Given the description of an element on the screen output the (x, y) to click on. 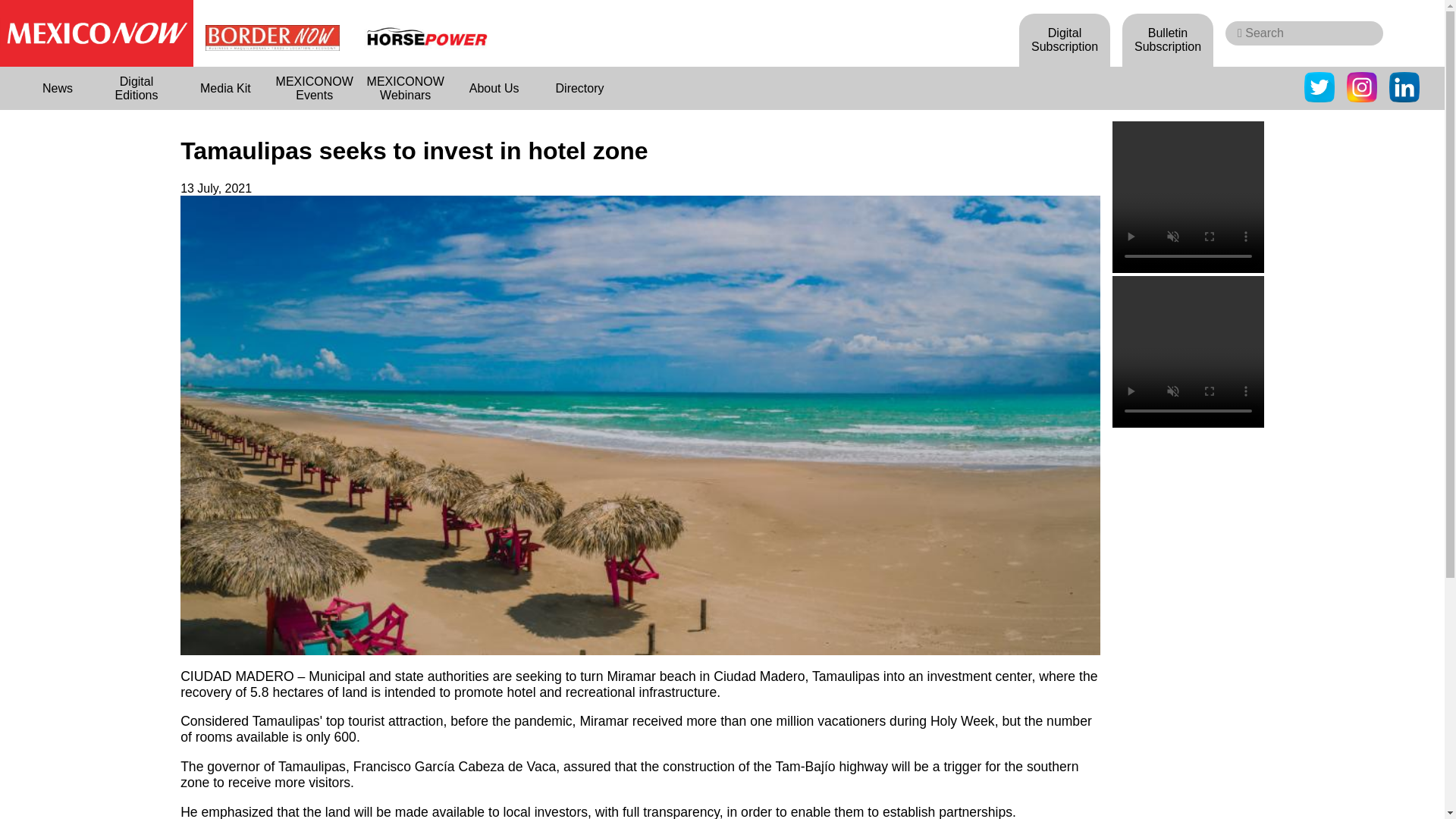
MEXICONOW Events (314, 87)
News (57, 87)
Media Kit (225, 87)
About Us (494, 87)
Bulletin Subscription (1167, 39)
Digital Editions (136, 87)
MEXICONOW Webinars (405, 87)
Digital Subscription (1064, 39)
Directory (580, 87)
